Given the description of an element on the screen output the (x, y) to click on. 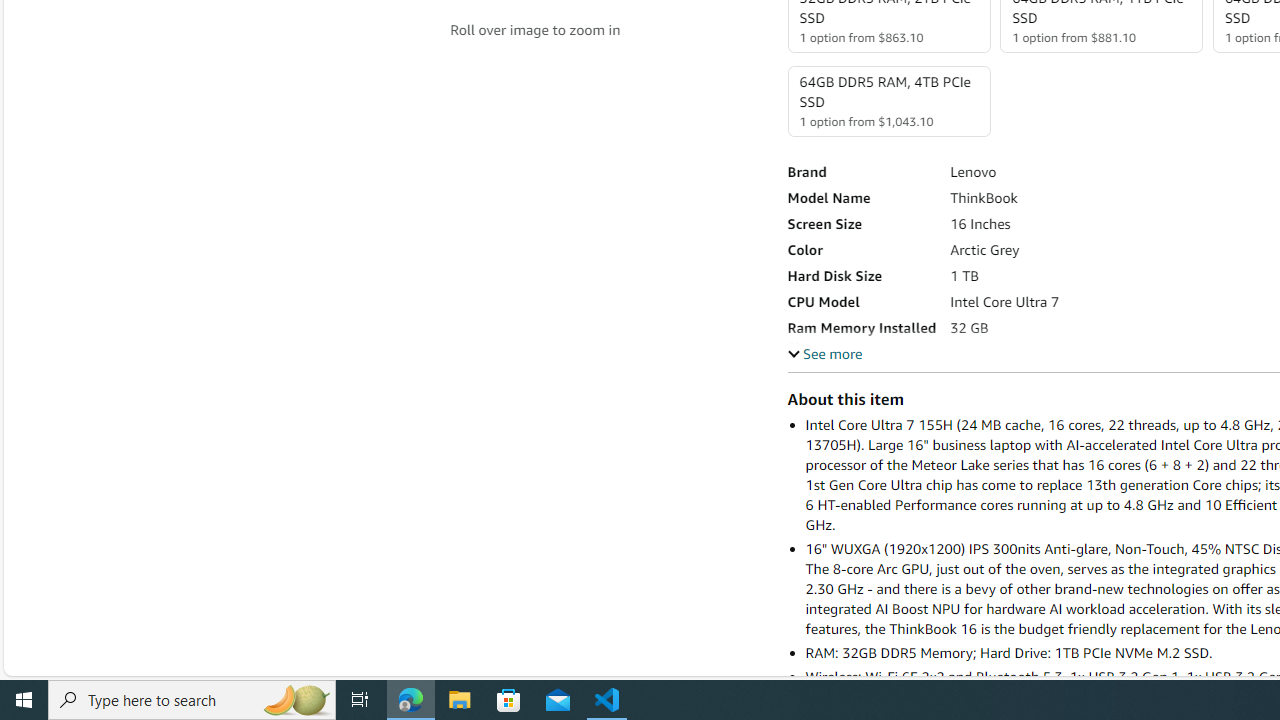
64GB DDR5 RAM, 4TB PCIe SSD 1 option from $1,043.10 (888, 101)
